Given the description of an element on the screen output the (x, y) to click on. 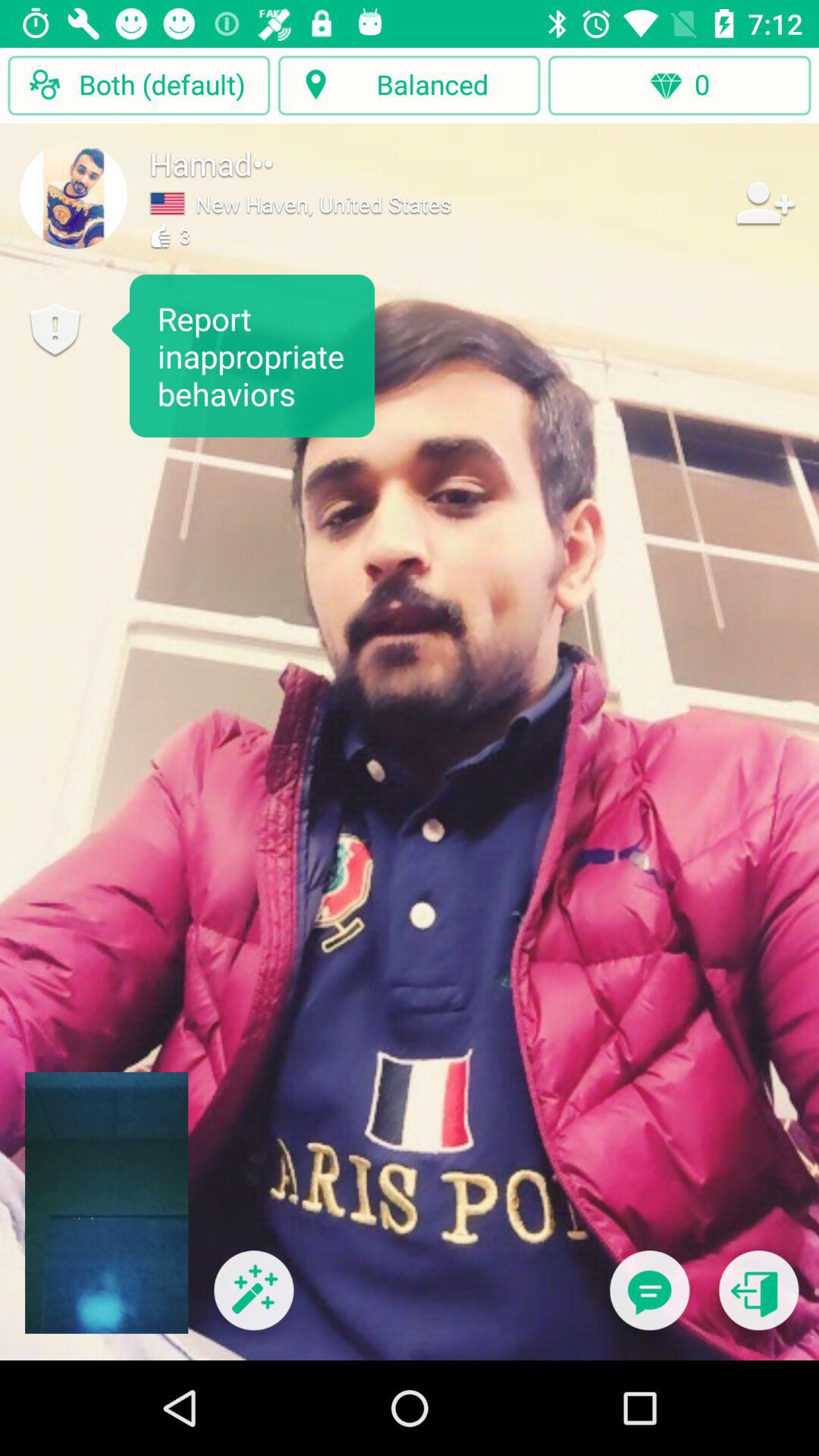
add image effects (253, 1300)
